Given the description of an element on the screen output the (x, y) to click on. 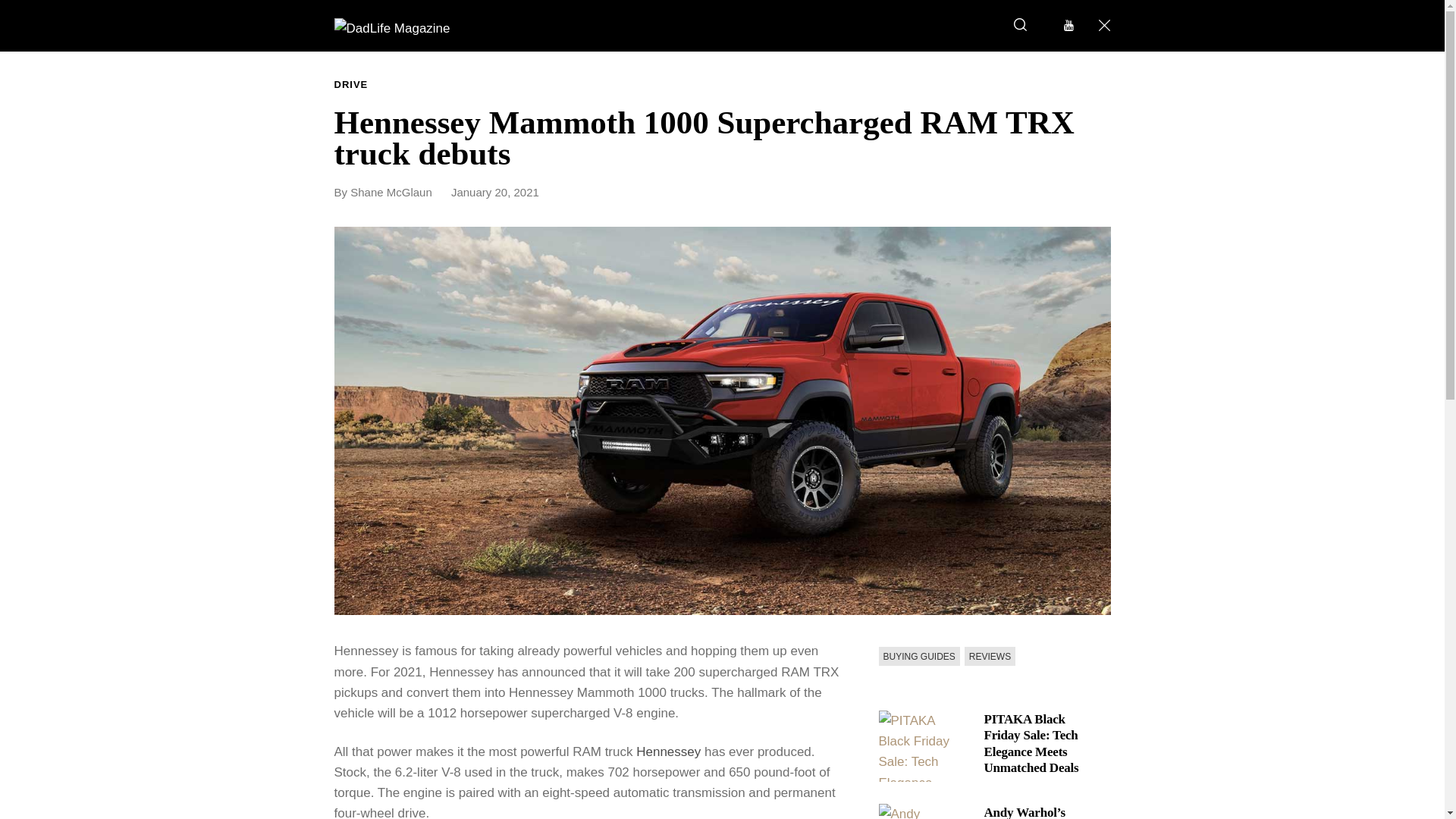
BUYING GUIDES (918, 656)
REVIEWS (988, 656)
By Shane McGlaun (389, 192)
Hennessey (668, 751)
DRIVE (350, 84)
